Given the description of an element on the screen output the (x, y) to click on. 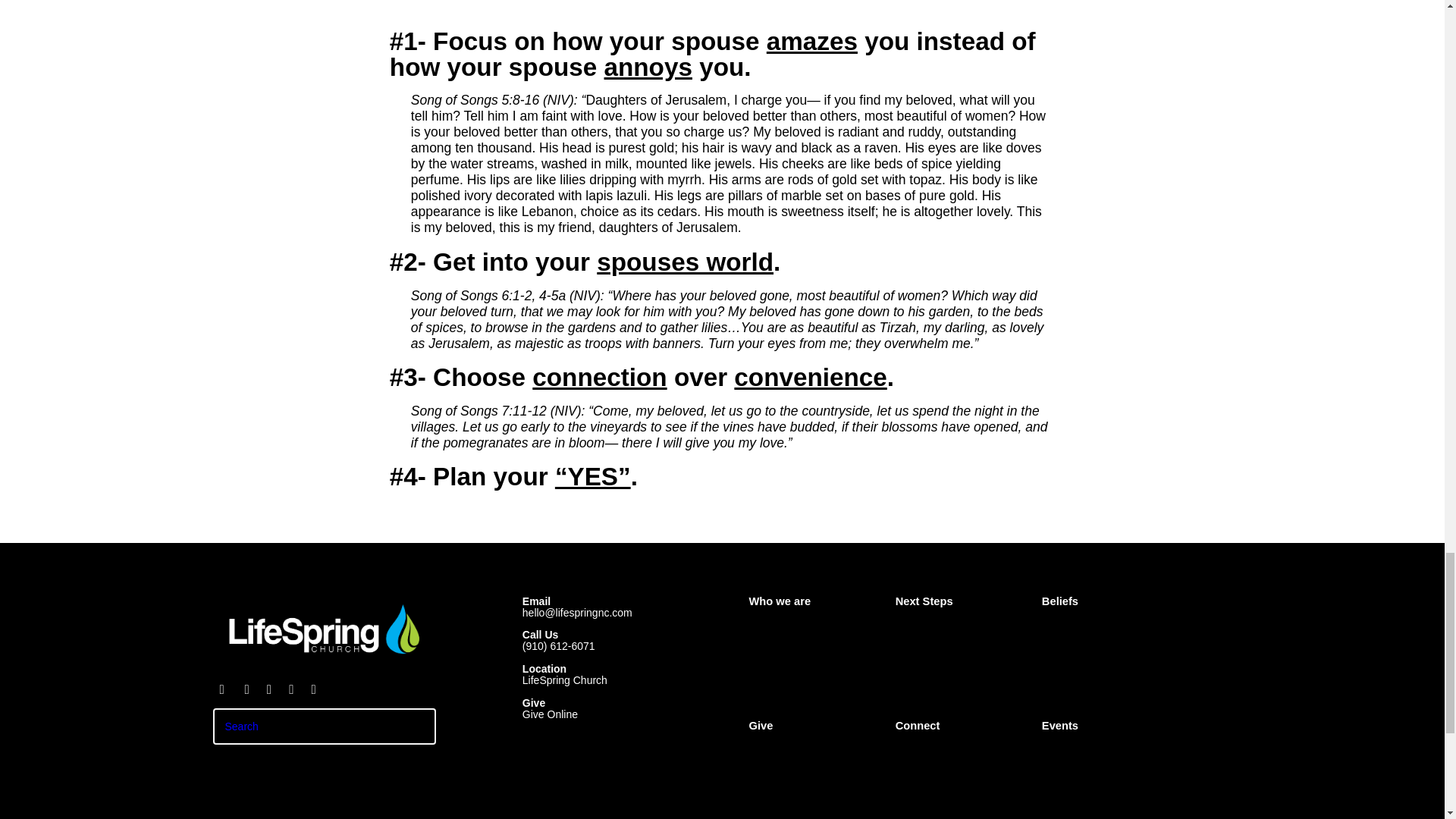
Next Steps (930, 605)
Give Online (550, 714)
Events (1067, 730)
LifeSpring Church (564, 680)
Who we are (786, 605)
Beliefs (1067, 605)
Give (767, 730)
Connect (924, 730)
